Given the description of an element on the screen output the (x, y) to click on. 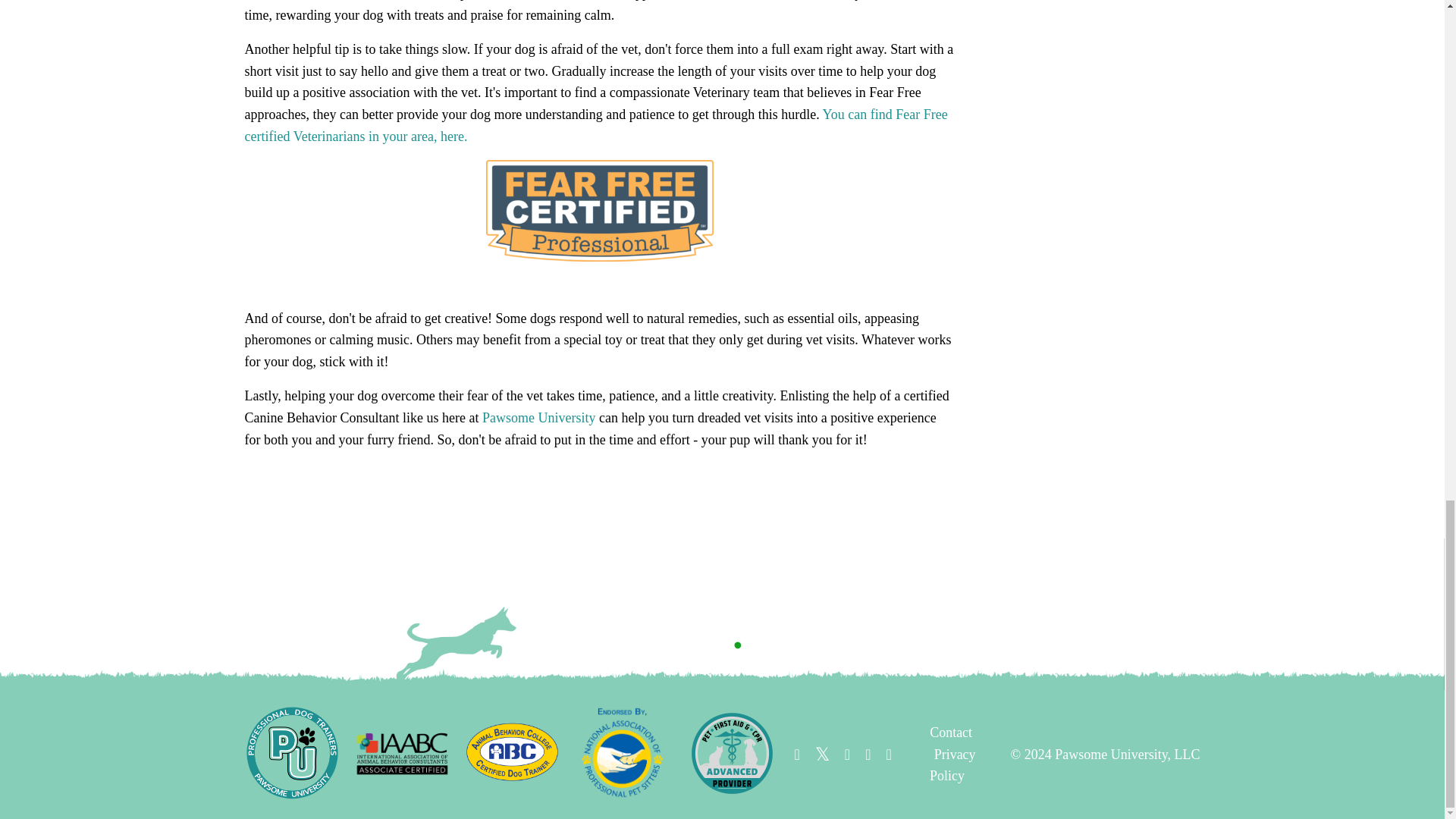
Pawsome University (538, 417)
